Given the description of an element on the screen output the (x, y) to click on. 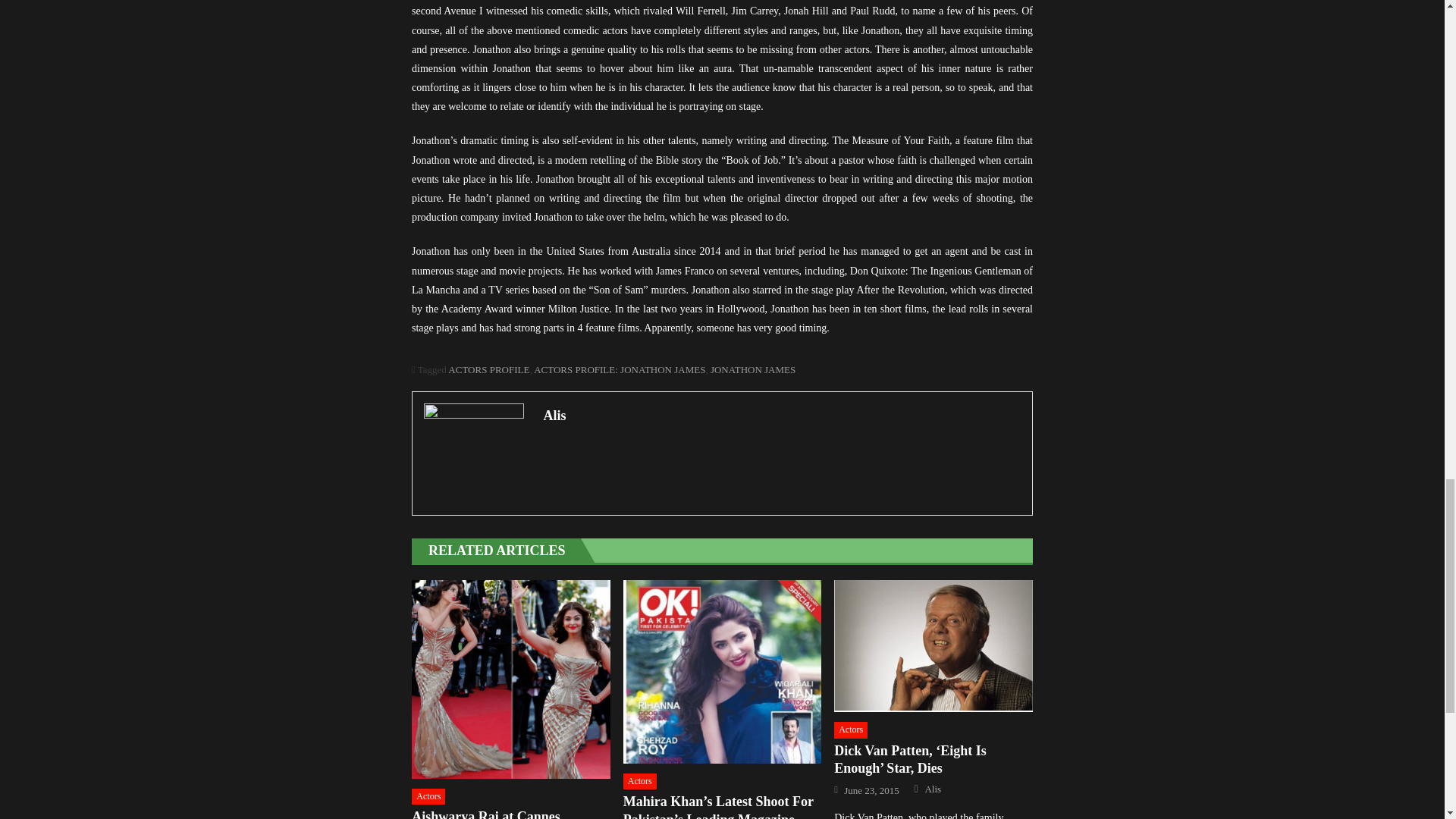
JONATHON JAMES (752, 369)
Aishwarya Rai at Cannes International Film Festival (511, 678)
Alis (781, 415)
Actors (428, 796)
ACTORS PROFILE: JONATHON JAMES (619, 369)
ACTORS PROFILE (488, 369)
